Given the description of an element on the screen output the (x, y) to click on. 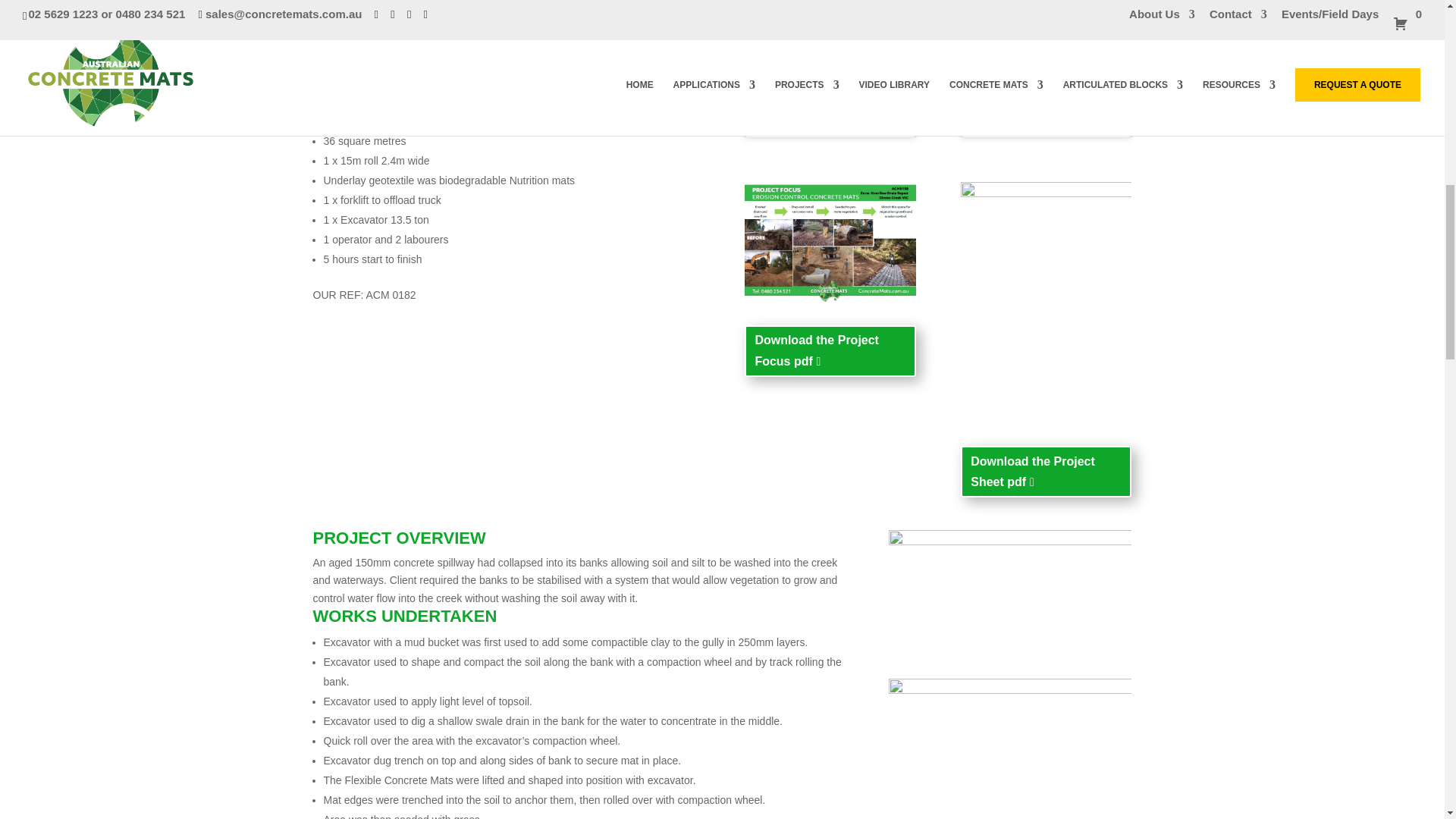
ACM-0182-Spillway-Dixons-Creek-VIC-04-900w (1009, 592)
ACM-0182-Spillway-Dixons-Creek-VIC-37-900w (1009, 748)
ACM Focus 0182 Farm Overflow Drain Repair Dixons Ck VIC 00 (829, 241)
